Given the description of an element on the screen output the (x, y) to click on. 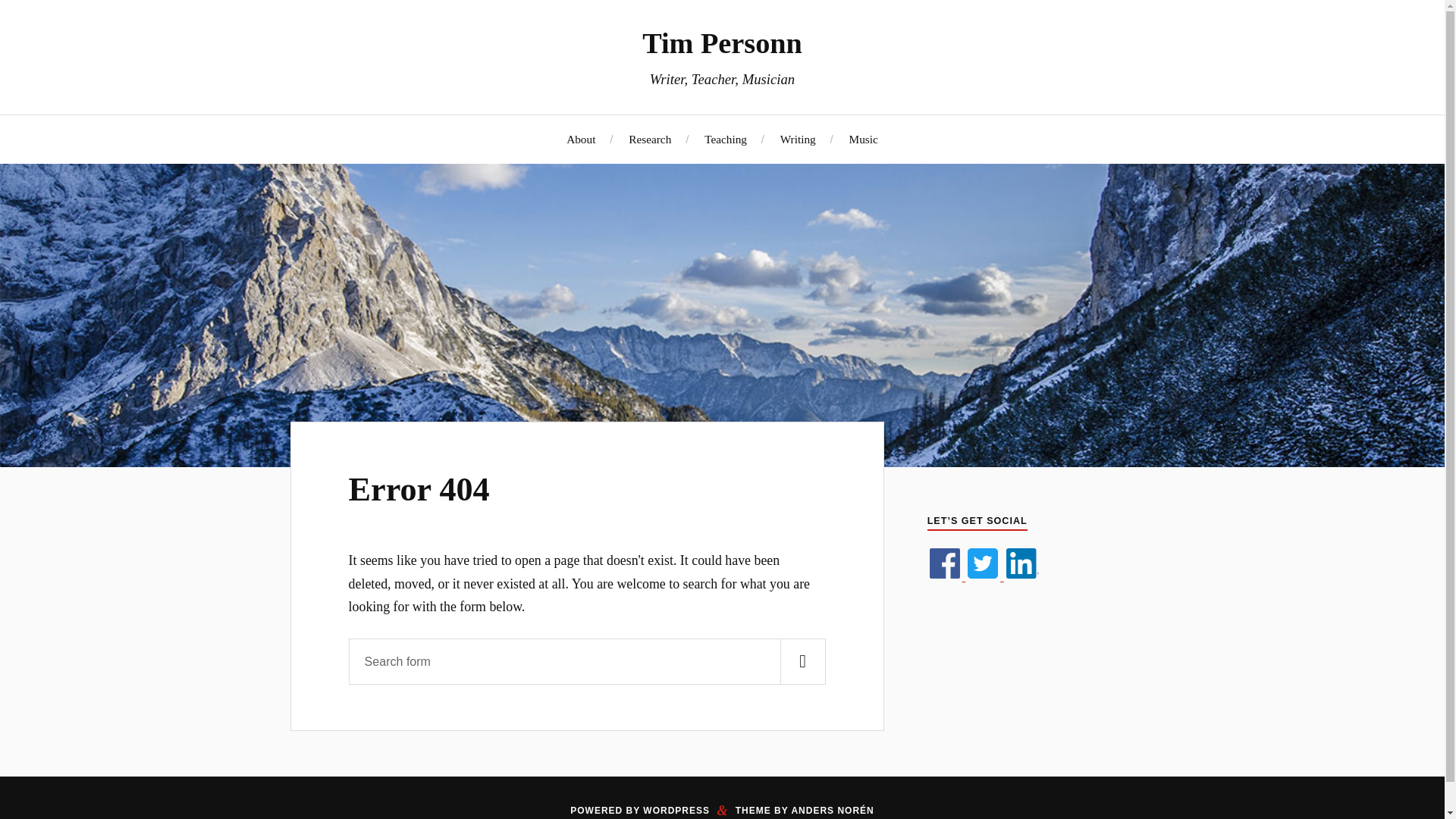
Teaching (725, 138)
Research (649, 138)
Tim Personn (722, 42)
